Given the description of an element on the screen output the (x, y) to click on. 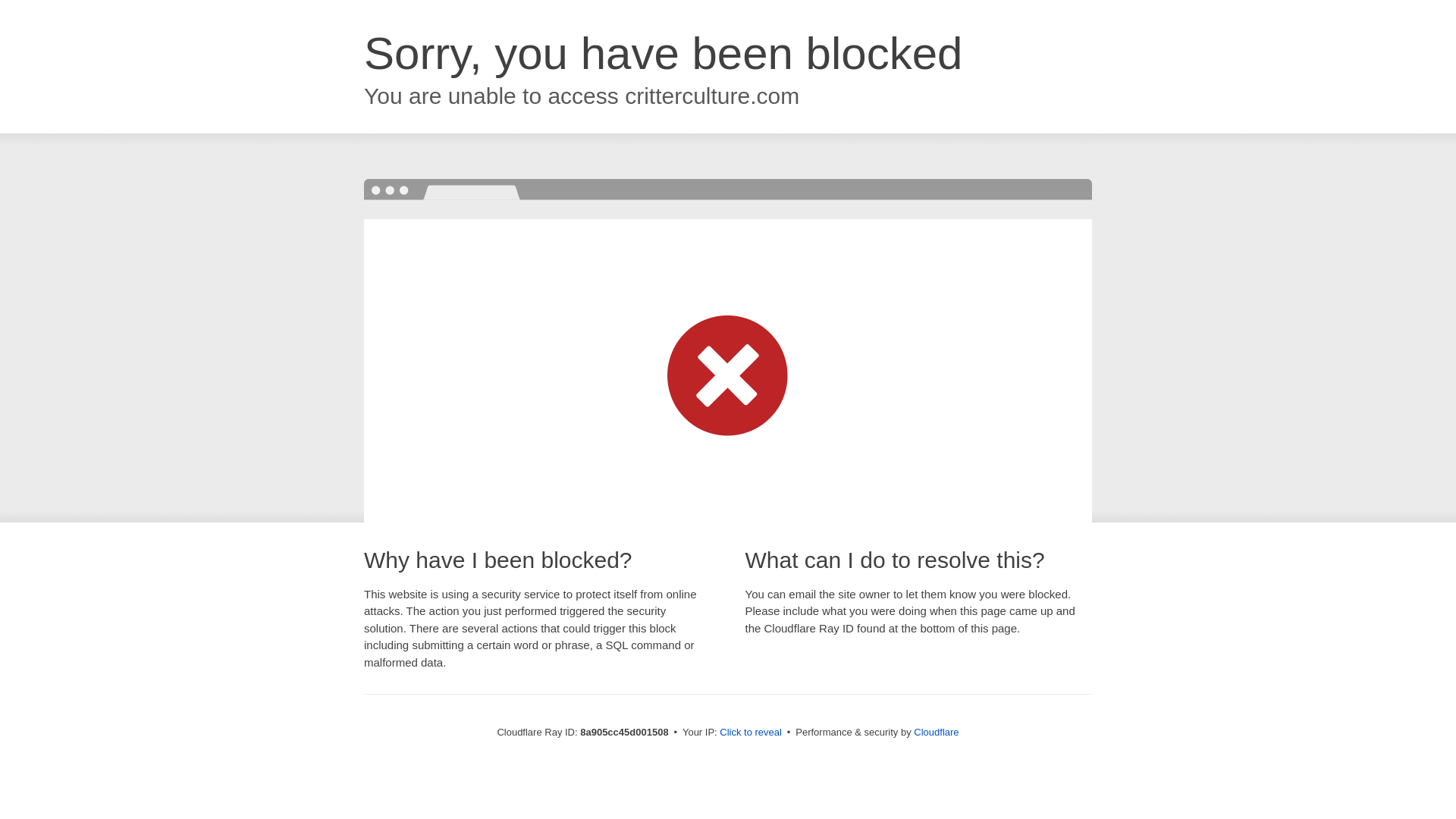
Click to reveal (750, 732)
Cloudflare (936, 731)
